Given the description of an element on the screen output the (x, y) to click on. 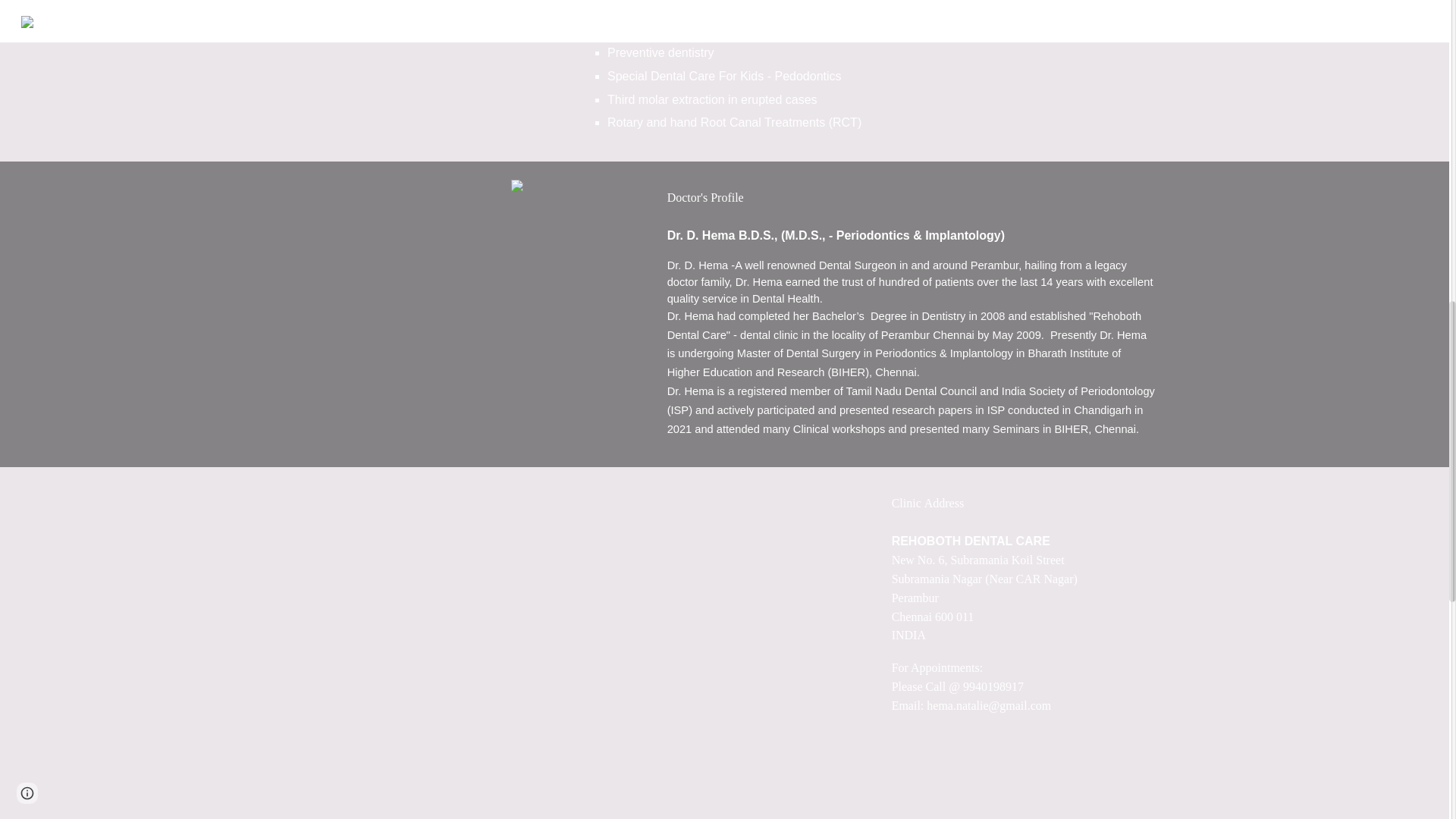
Bharath Institute of Higher Education and Research (893, 362)
